Given the description of an element on the screen output the (x, y) to click on. 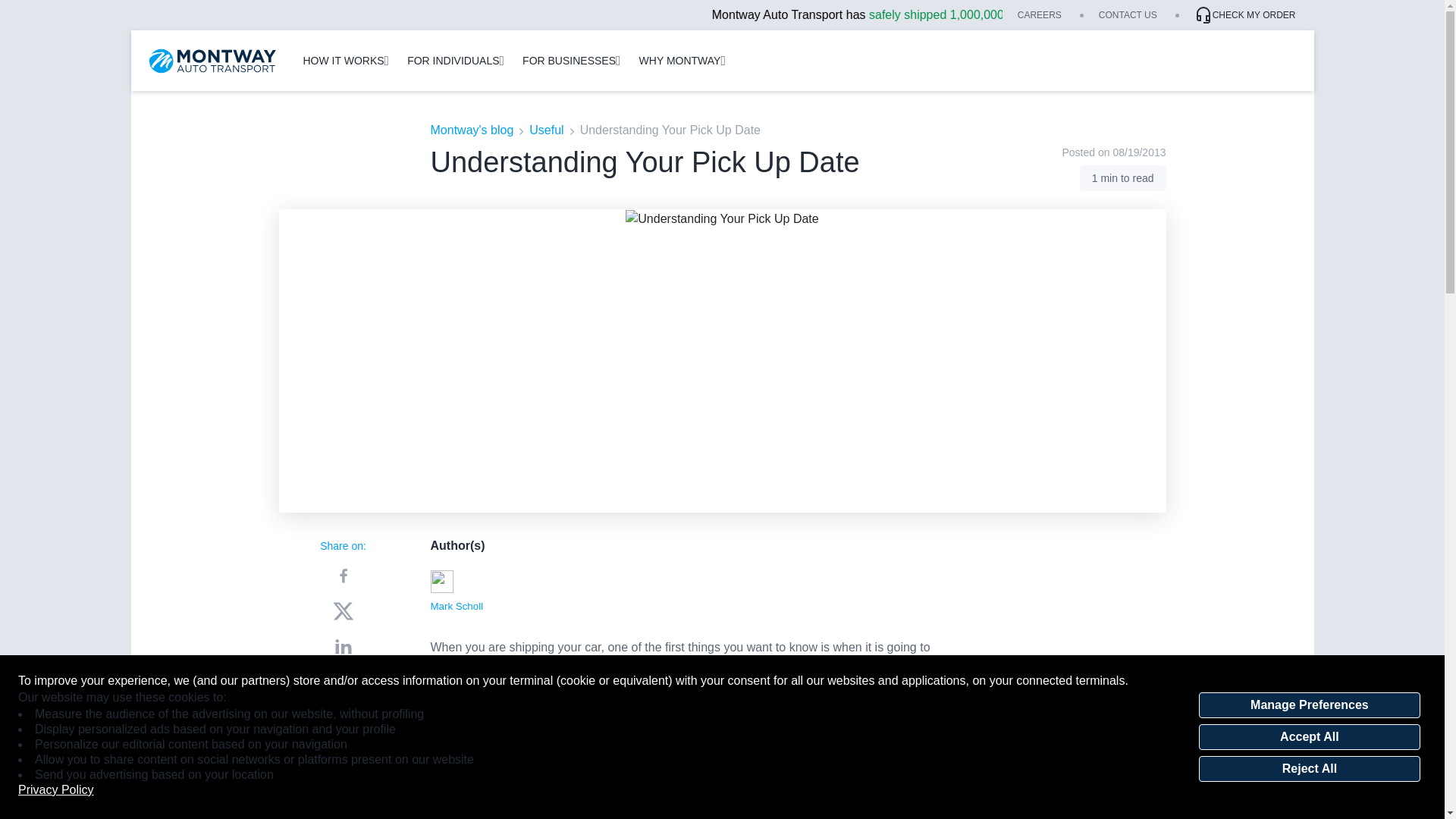
Reject All (1309, 768)
CONTACT US (1128, 15)
CAREERS (1039, 15)
Manage Preferences (1309, 705)
Accept All (1309, 736)
CHECK MY ORDER (1244, 14)
Privacy Policy (55, 789)
